Given the description of an element on the screen output the (x, y) to click on. 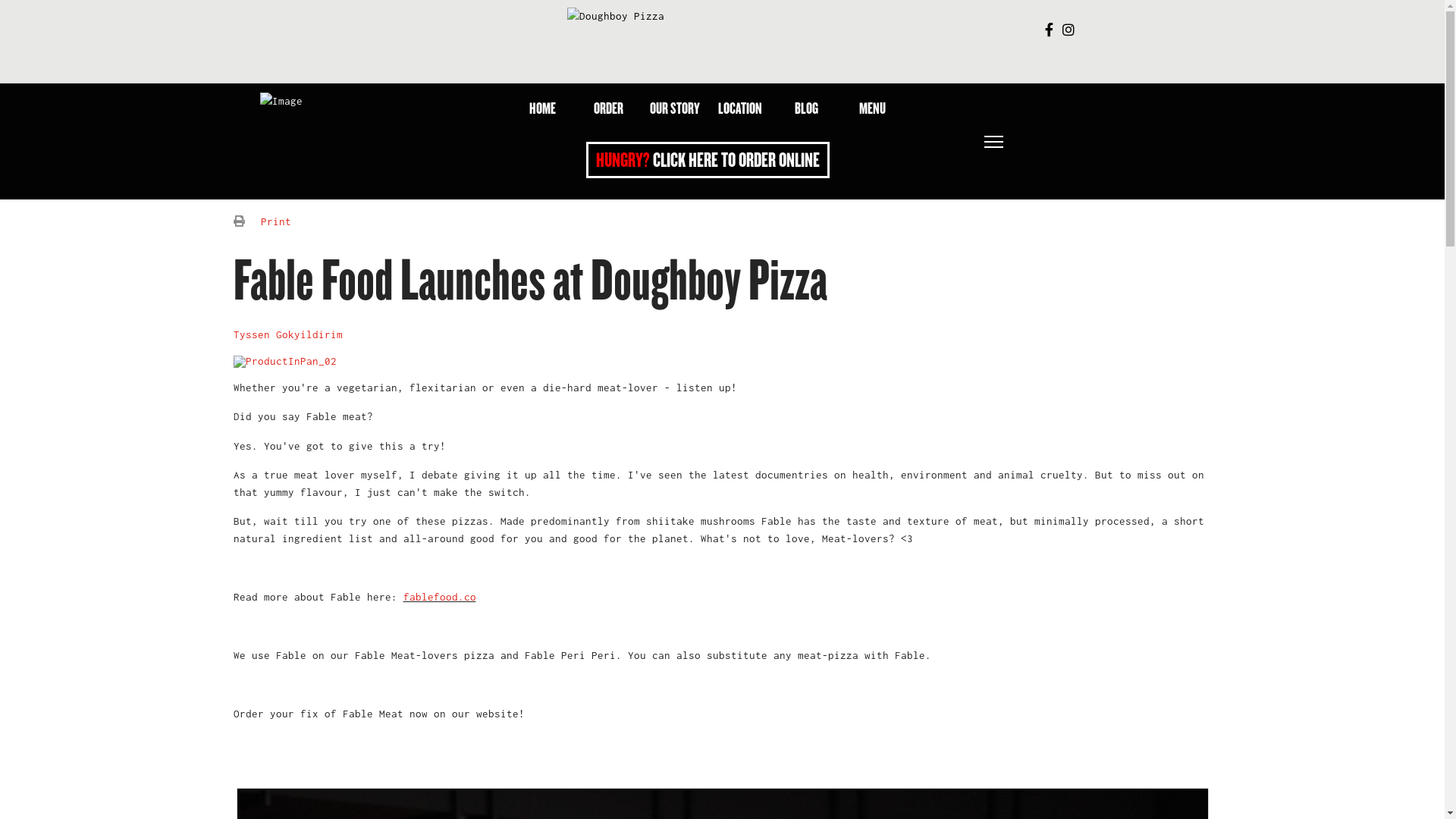
HUNGRY? CLICK HERE TO ORDER ONLINE Element type: text (707, 159)
Print Element type: text (275, 221)
ORDER Element type: text (608, 109)
Tyssen Gokyildirim Element type: text (287, 333)
LOCATION Element type: text (740, 109)
HOME Element type: text (542, 109)
BLOG Element type: text (806, 109)
OUR STORY Element type: text (674, 109)
Follow Doughboy on Instagram Element type: hover (1068, 29)
Follow Doughboy on Facebook Element type: hover (1048, 29)
ProductInPan_02 Element type: hover (722, 360)
fablefood.co Element type: text (439, 595)
MENU Element type: text (872, 109)
